Given the description of an element on the screen output the (x, y) to click on. 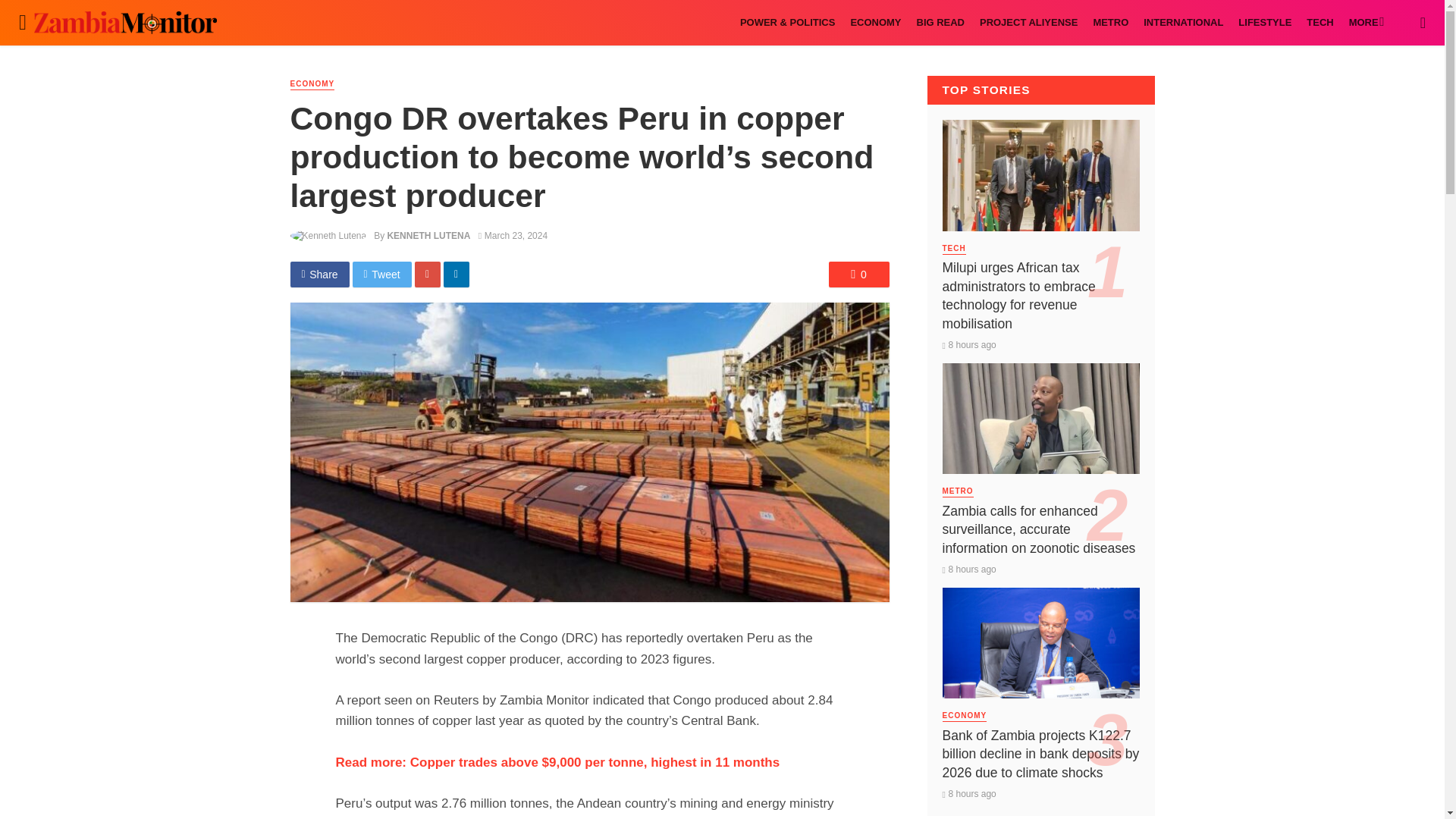
PROJECT ALIYENSE (1028, 22)
LIFESTYLE (1264, 22)
BIG READ (939, 22)
TECH (1319, 22)
ECONOMY (875, 22)
INTERNATIONAL (1182, 22)
METRO (1109, 22)
